Given the description of an element on the screen output the (x, y) to click on. 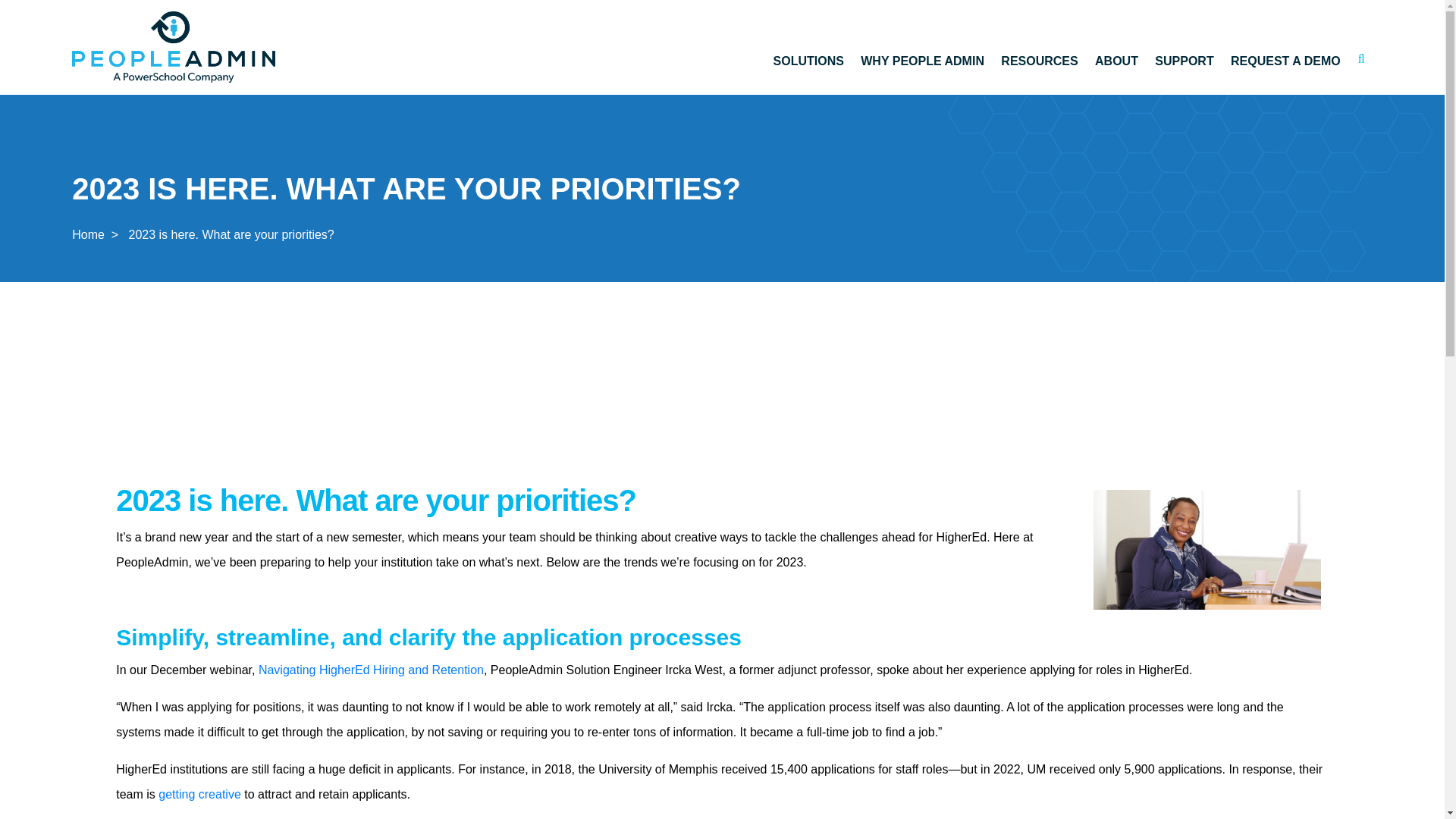
Home (87, 235)
WHY PEOPLE ADMIN (922, 63)
ABOUT (1116, 63)
RESOURCES (1039, 63)
SUPPORT (1183, 63)
SOLUTIONS (808, 63)
Navigating HigherEd Hiring and Retention (368, 669)
getting creative (199, 793)
REQUEST A DEMO (1285, 63)
